Given the description of an element on the screen output the (x, y) to click on. 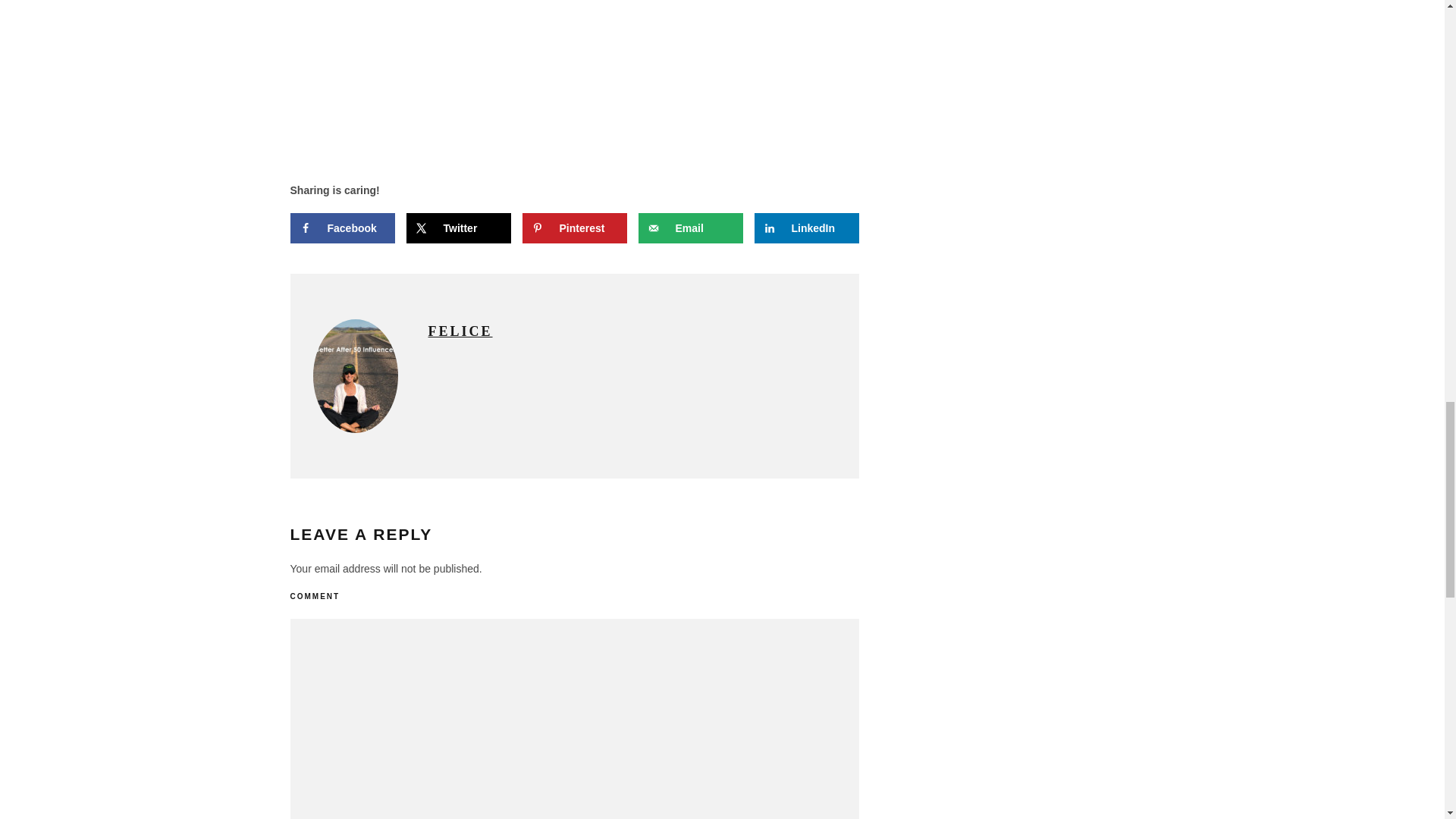
Share on Facebook (341, 227)
Share on LinkedIn (806, 227)
Send over email (690, 227)
Save to Pinterest (573, 227)
Share on X (458, 227)
